Given the description of an element on the screen output the (x, y) to click on. 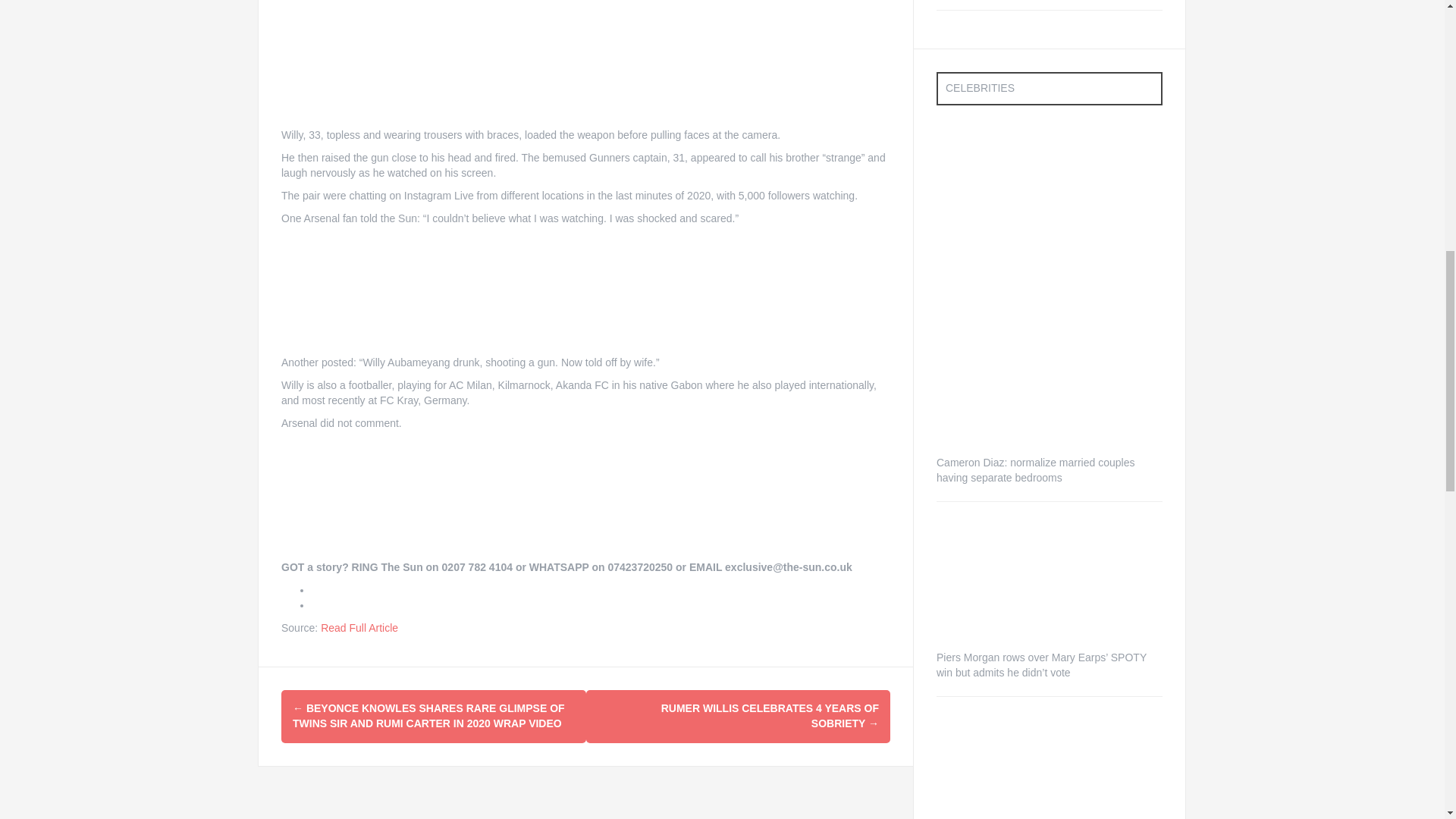
Read Full Article (358, 627)
